Given the description of an element on the screen output the (x, y) to click on. 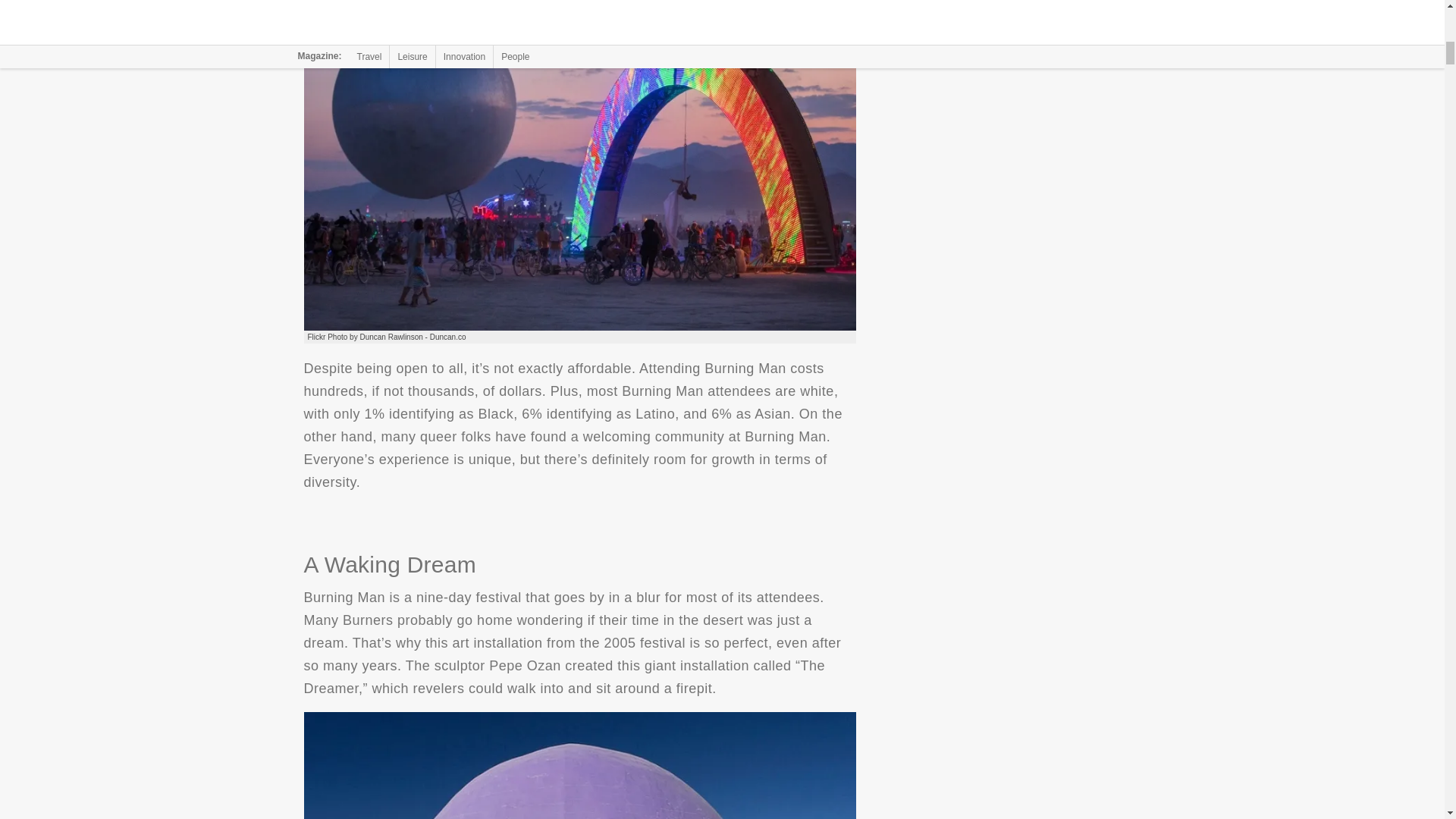
A Waking Dream (579, 765)
